Given the description of an element on the screen output the (x, y) to click on. 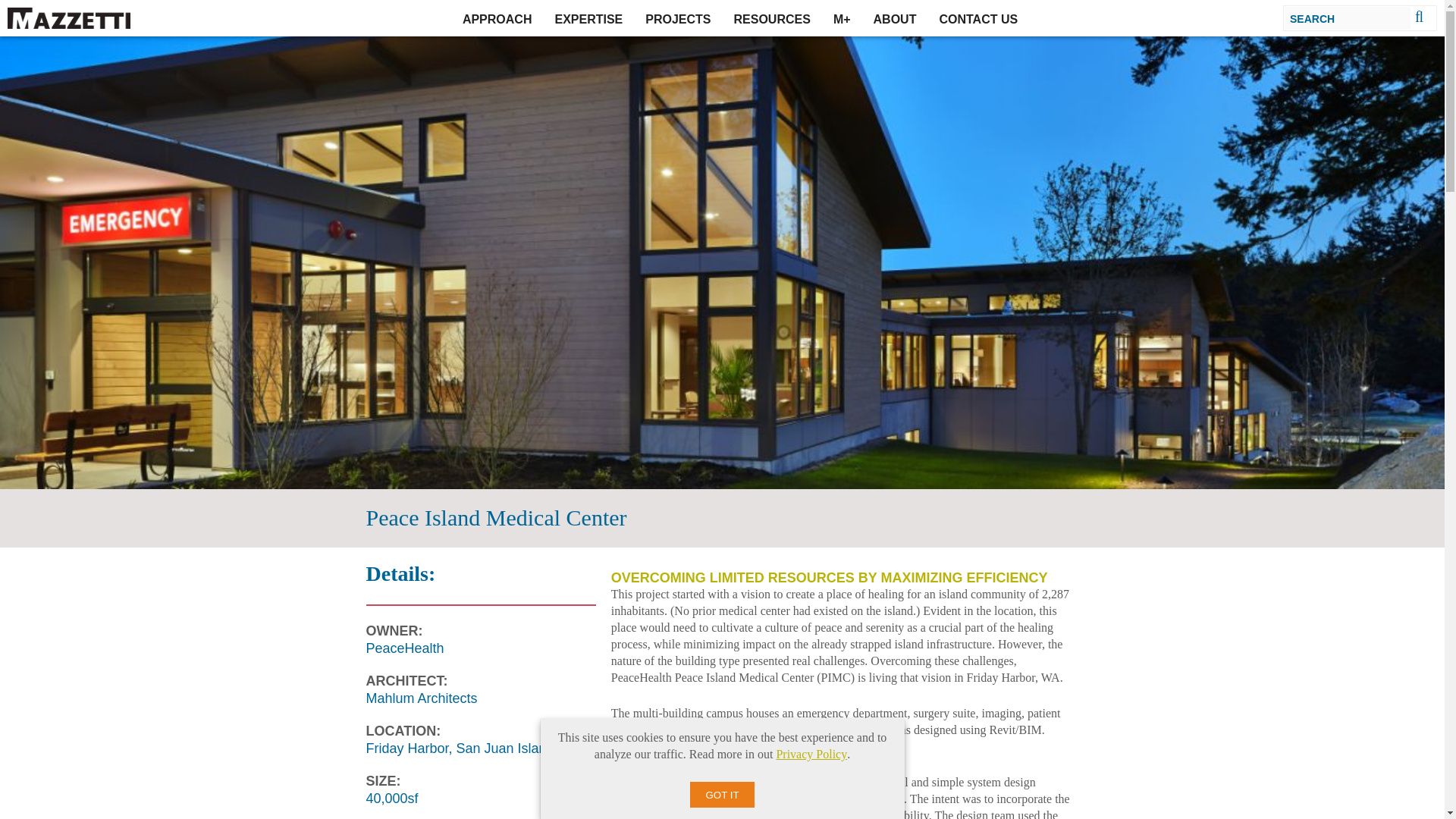
RESOURCES (772, 18)
ABOUT (894, 18)
Search for: (1348, 17)
APPROACH (497, 18)
PROJECTS (677, 18)
EXPERTISE (588, 18)
